Given the description of an element on the screen output the (x, y) to click on. 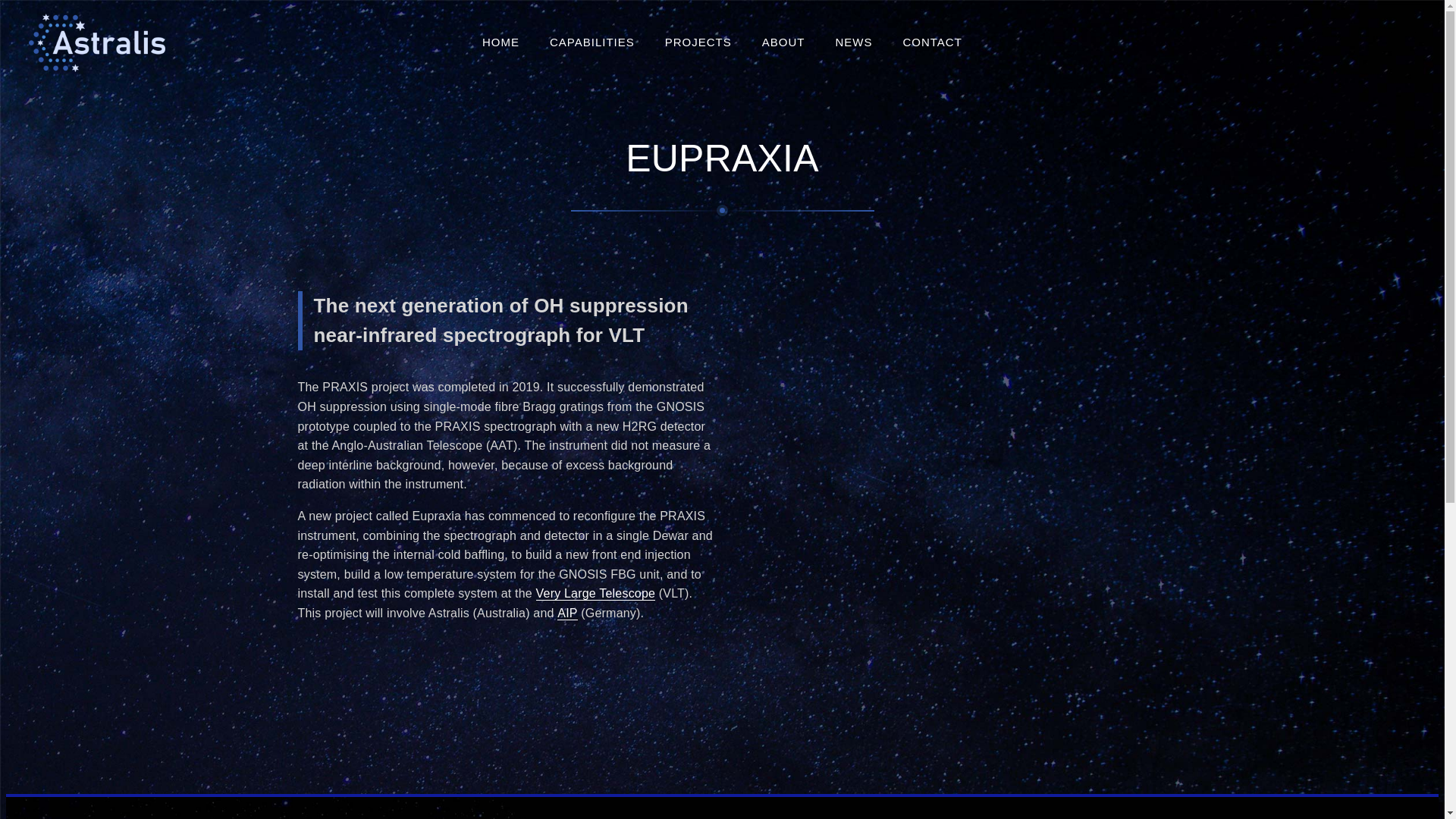
ABOUT Element type: text (783, 42)
NEWS Element type: text (853, 42)
CAPABILITIES Element type: text (591, 42)
Very Large Telescope Element type: text (595, 593)
HOME Element type: text (500, 42)
AIP Element type: text (567, 613)
PROJECTS Element type: text (697, 42)
CONTACT Element type: text (931, 42)
